Given the description of an element on the screen output the (x, y) to click on. 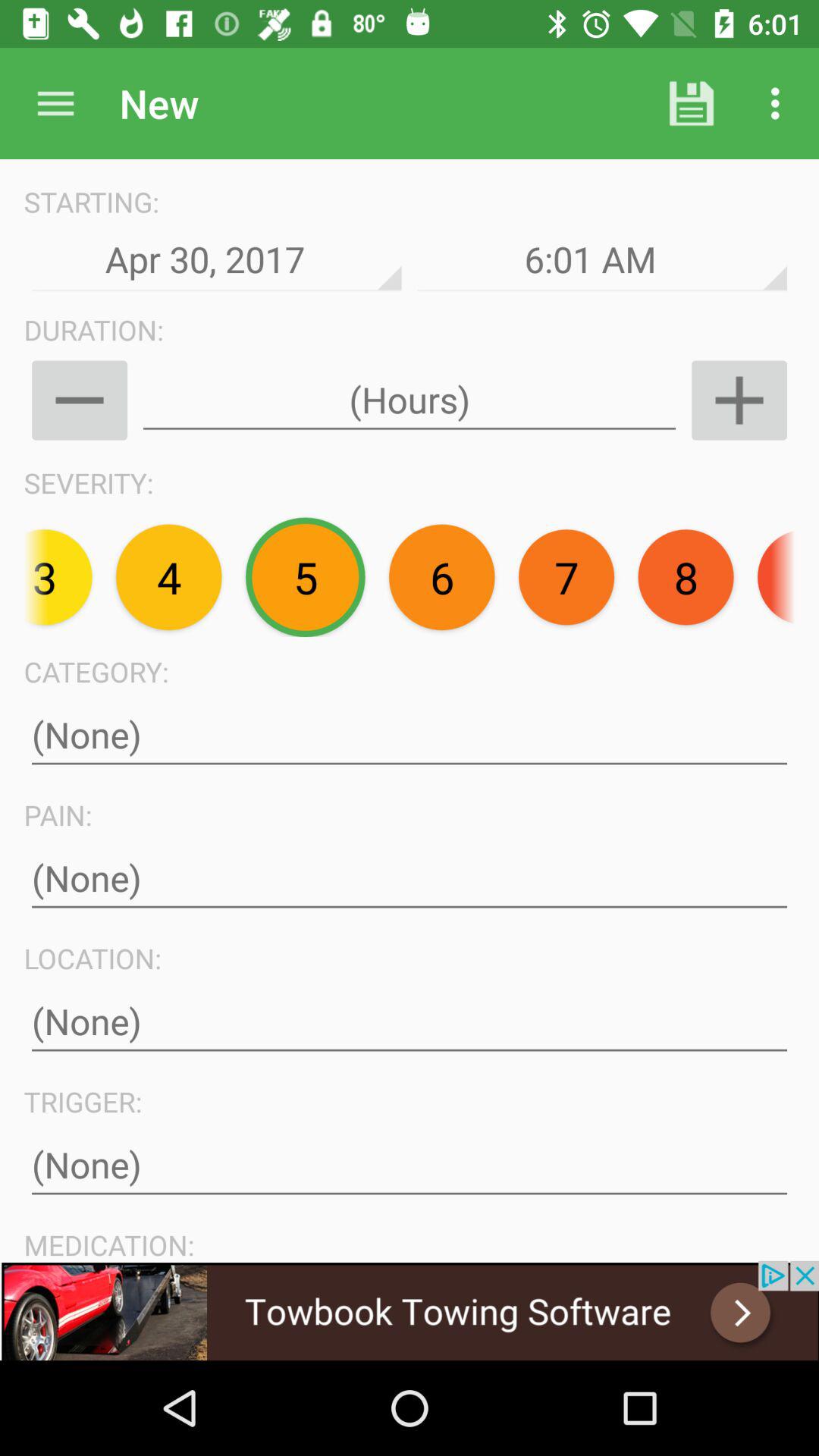
enter location (409, 1021)
